Given the description of an element on the screen output the (x, y) to click on. 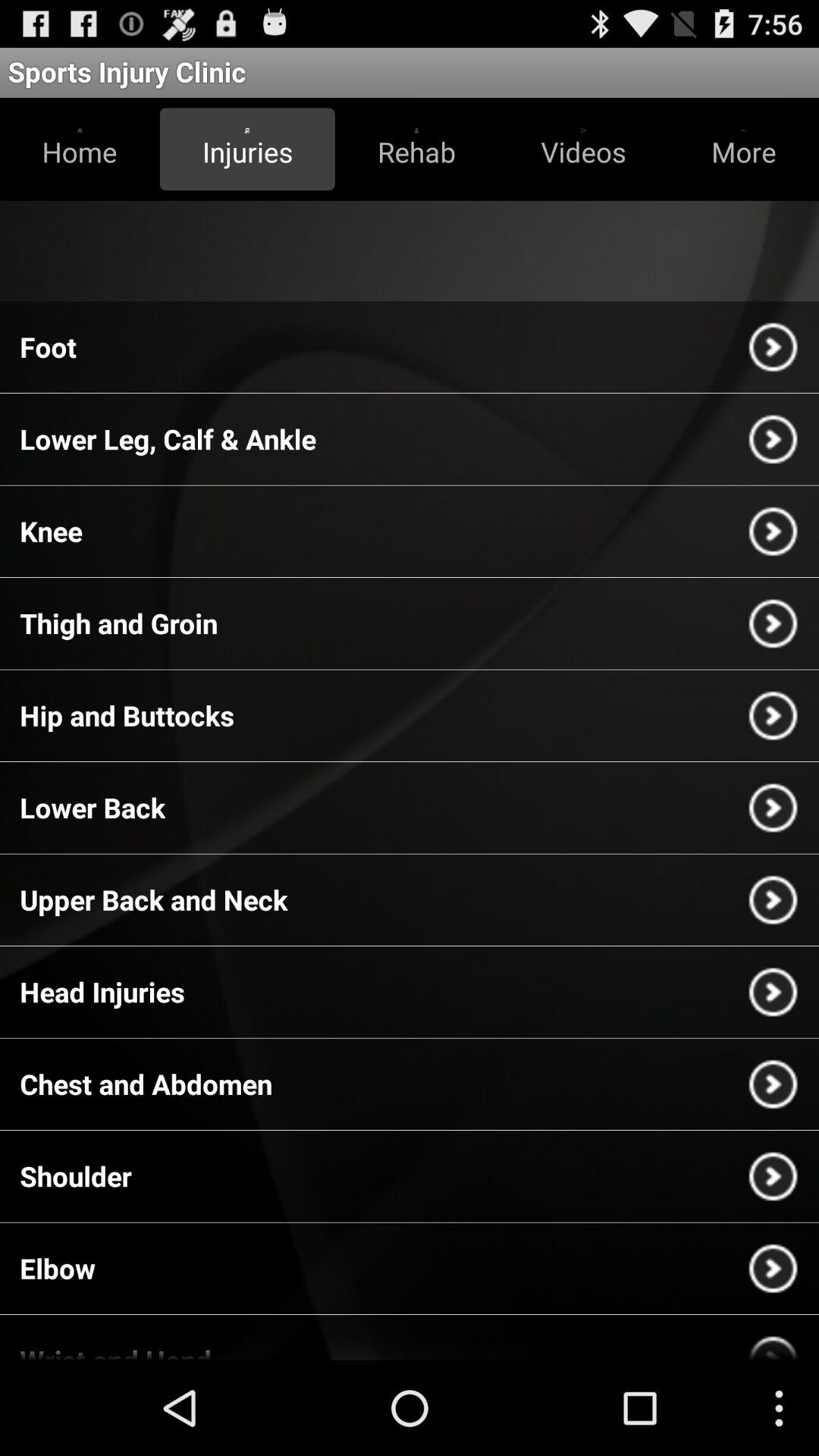
turn on the icon to the right of the lower back app (773, 807)
